Given the description of an element on the screen output the (x, y) to click on. 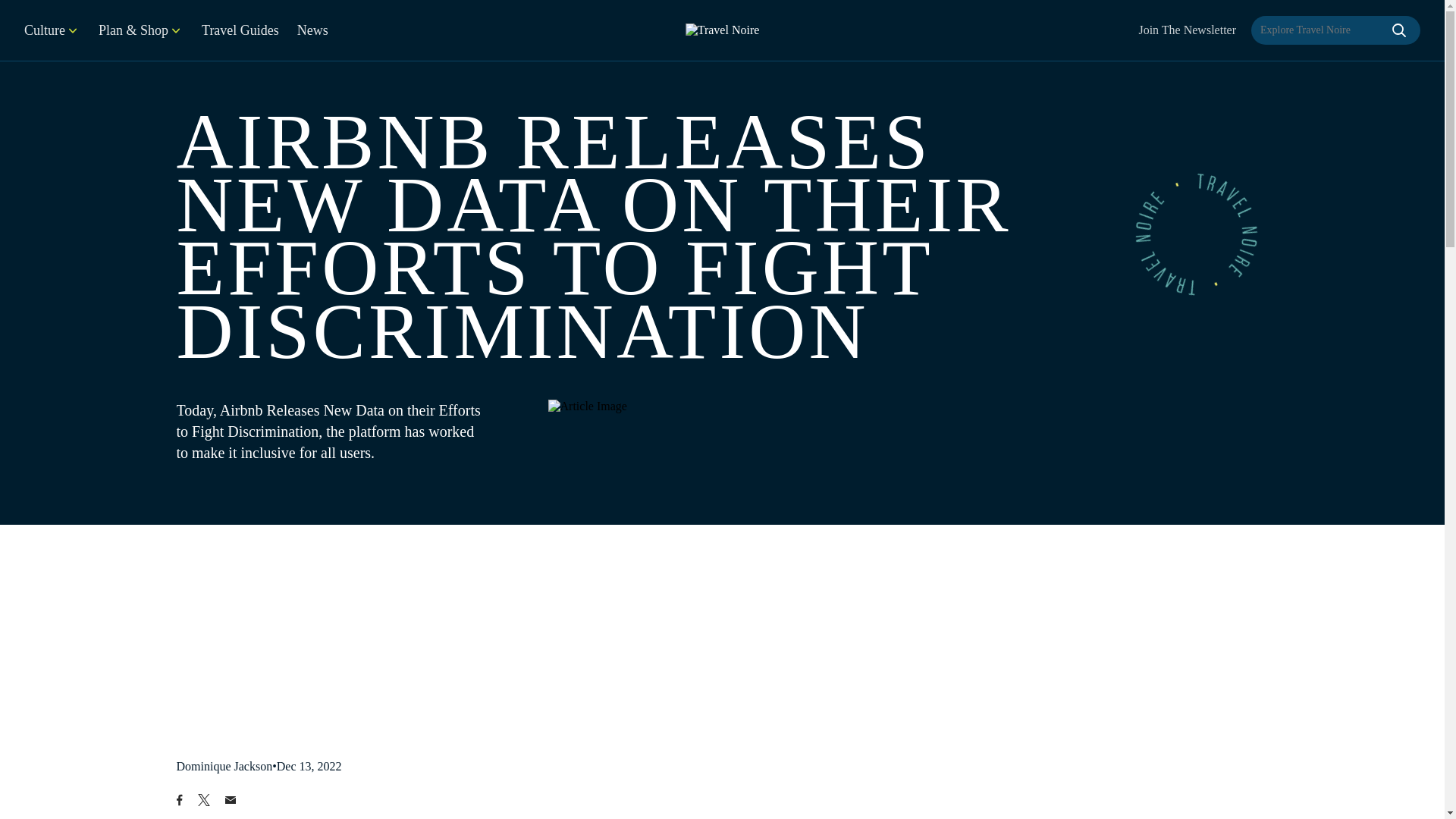
Dominique Jackson (224, 766)
Culture (52, 30)
Travel Guides (240, 29)
Join The Newsletter (1187, 29)
News (313, 29)
Newsletter (1187, 29)
Travel Noire (722, 29)
Dominique Jackson (224, 766)
